Given the description of an element on the screen output the (x, y) to click on. 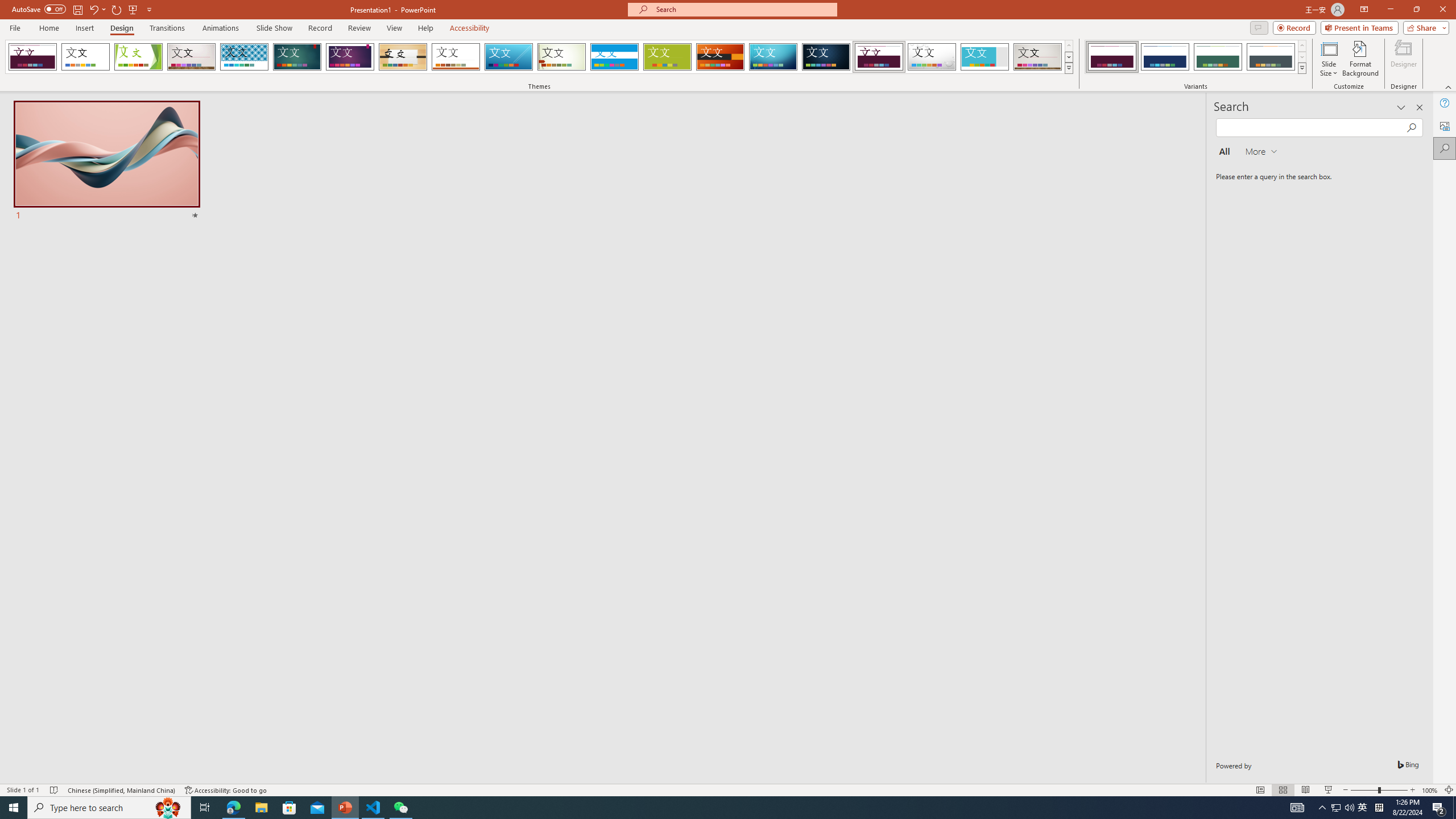
Banded (614, 56)
Office Theme (85, 56)
Organic (403, 56)
Dividend Variant 4 (1270, 56)
Basis (667, 56)
Dividend Variant 2 (1164, 56)
